Given the description of an element on the screen output the (x, y) to click on. 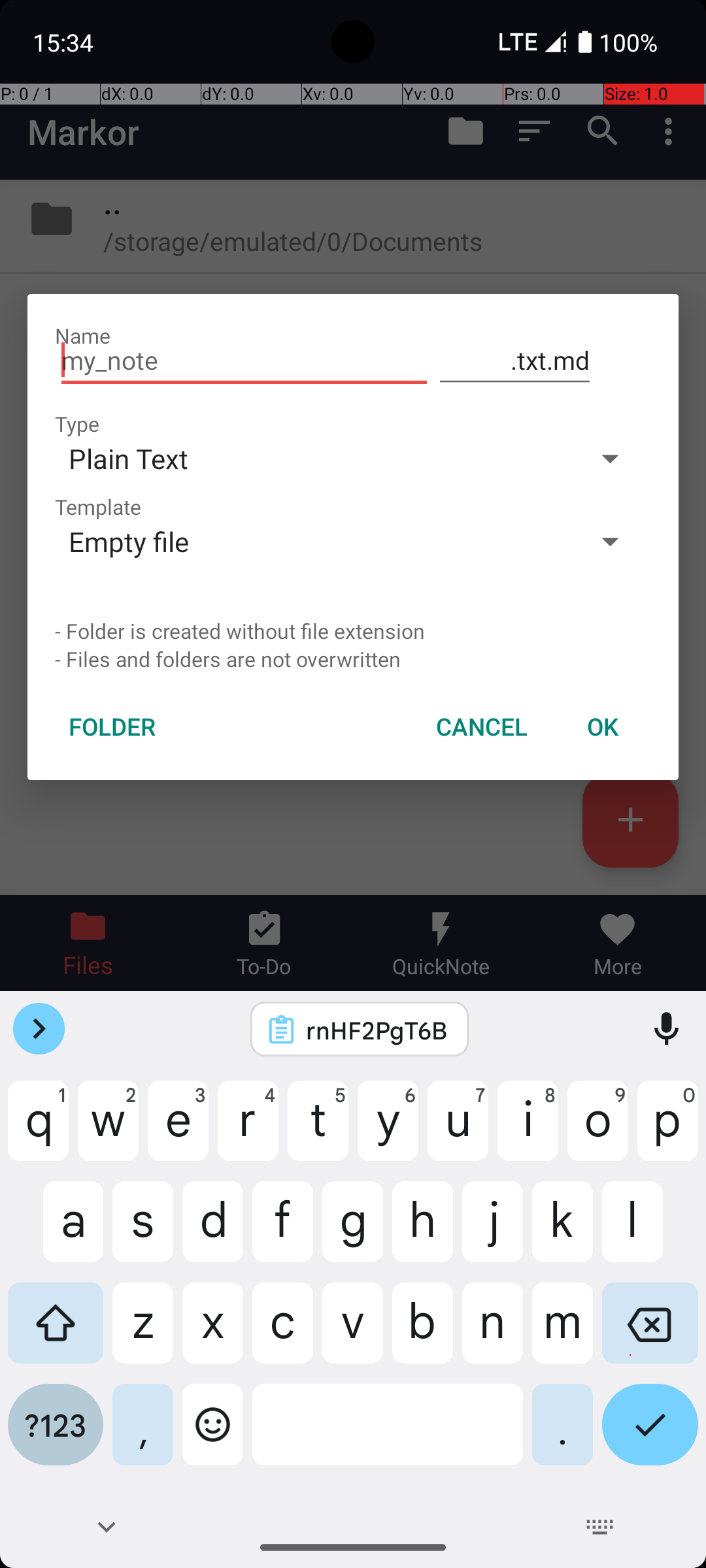
.txt.md Element type: android.widget.EditText (514, 360)
rnHF2PgT6B Element type: android.widget.TextView (376, 1029)
